Given the description of an element on the screen output the (x, y) to click on. 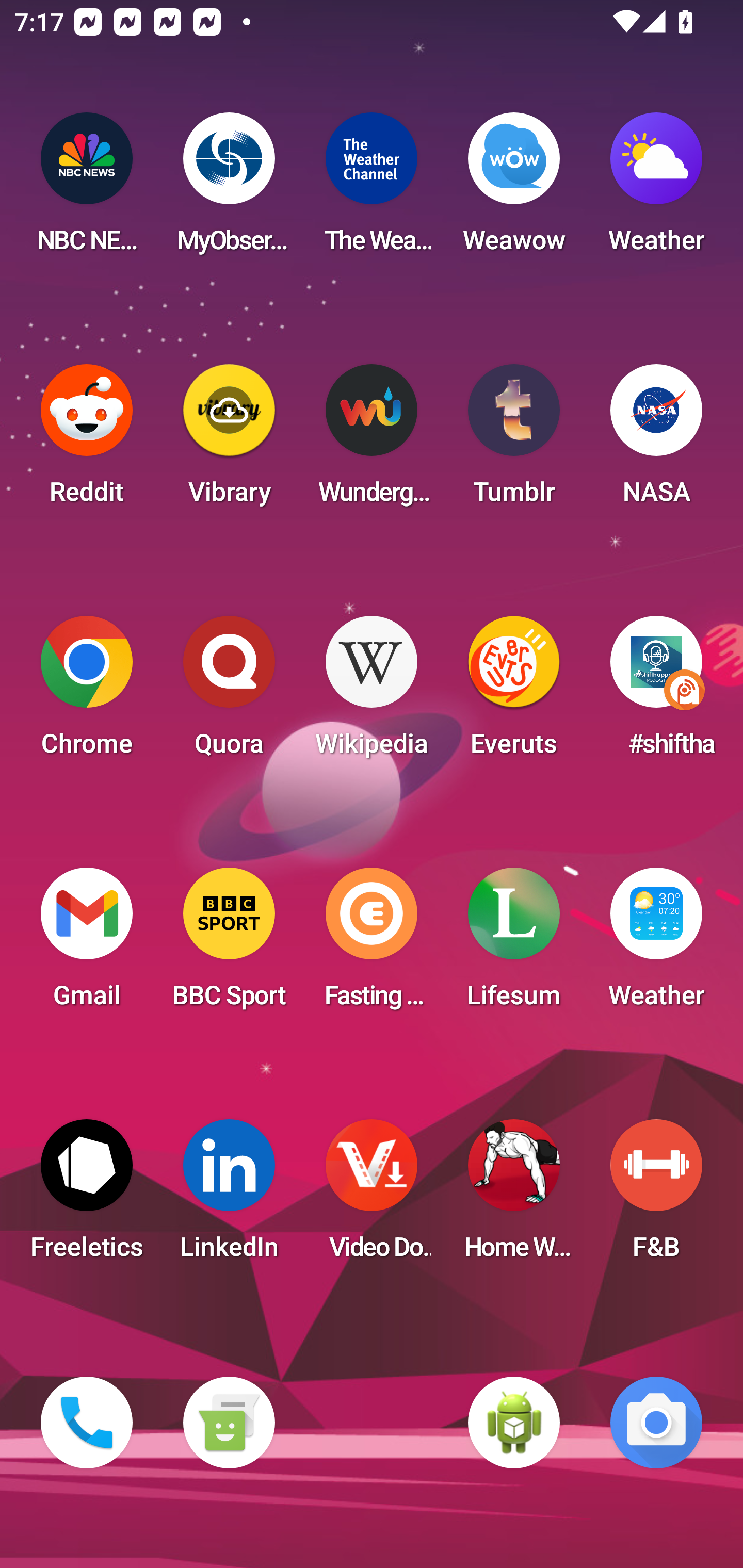
NBC NEWS (86, 188)
MyObservatory (228, 188)
The Weather Channel (371, 188)
Weawow (513, 188)
Weather (656, 188)
Reddit (86, 440)
Vibrary (228, 440)
Wunderground (371, 440)
Tumblr (513, 440)
NASA (656, 440)
Chrome (86, 692)
Quora (228, 692)
Wikipedia (371, 692)
Everuts (513, 692)
#shifthappens in the Digital Workplace Podcast (656, 692)
Gmail (86, 943)
BBC Sport (228, 943)
Fasting Coach (371, 943)
Lifesum (513, 943)
Weather (656, 943)
Freeletics (86, 1195)
LinkedIn (228, 1195)
Video Downloader & Ace Player (371, 1195)
Home Workout (513, 1195)
F&B (656, 1195)
Phone (86, 1422)
Messaging (228, 1422)
WebView Browser Tester (513, 1422)
Camera (656, 1422)
